Given the description of an element on the screen output the (x, y) to click on. 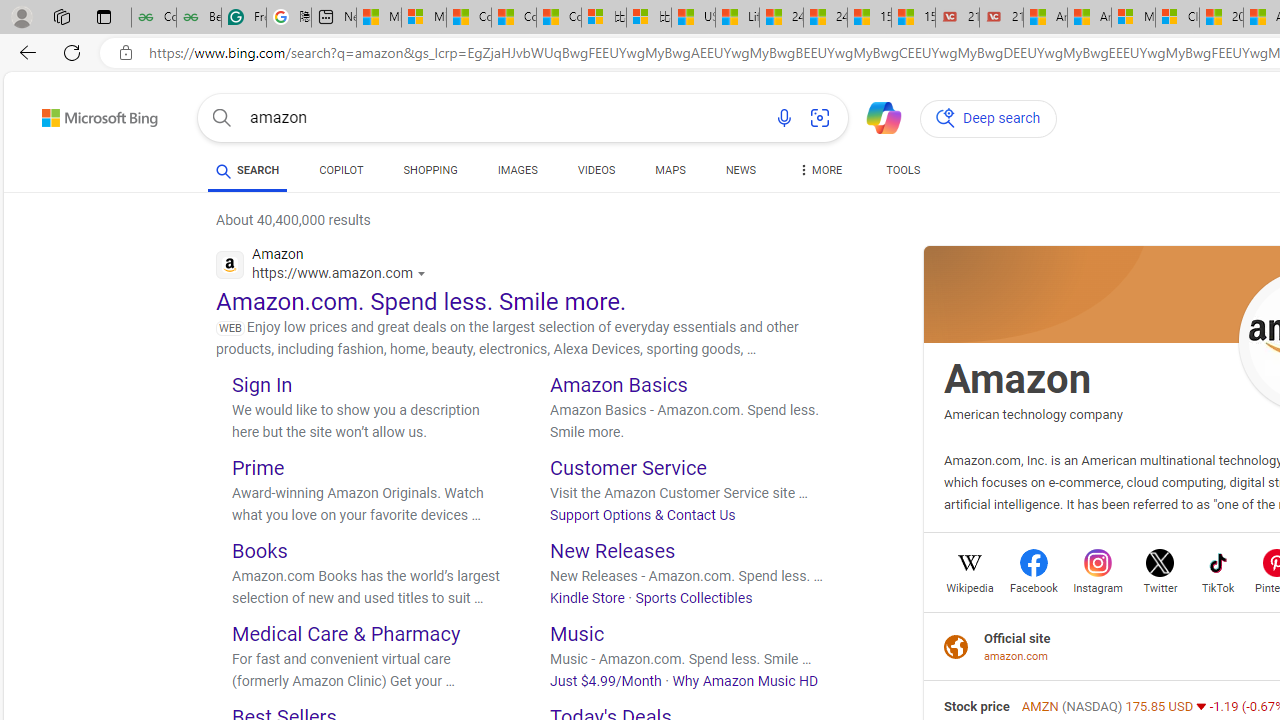
MAPS (669, 173)
COPILOT (341, 173)
Chat (875, 116)
SEARCH (247, 170)
15 Ways Modern Life Contradicts the Teachings of Jesus (913, 17)
IMAGES (517, 173)
AMZN  (1041, 706)
Customer Service (628, 467)
SHOPPING (430, 170)
Skip to content (64, 111)
